Given the description of an element on the screen output the (x, y) to click on. 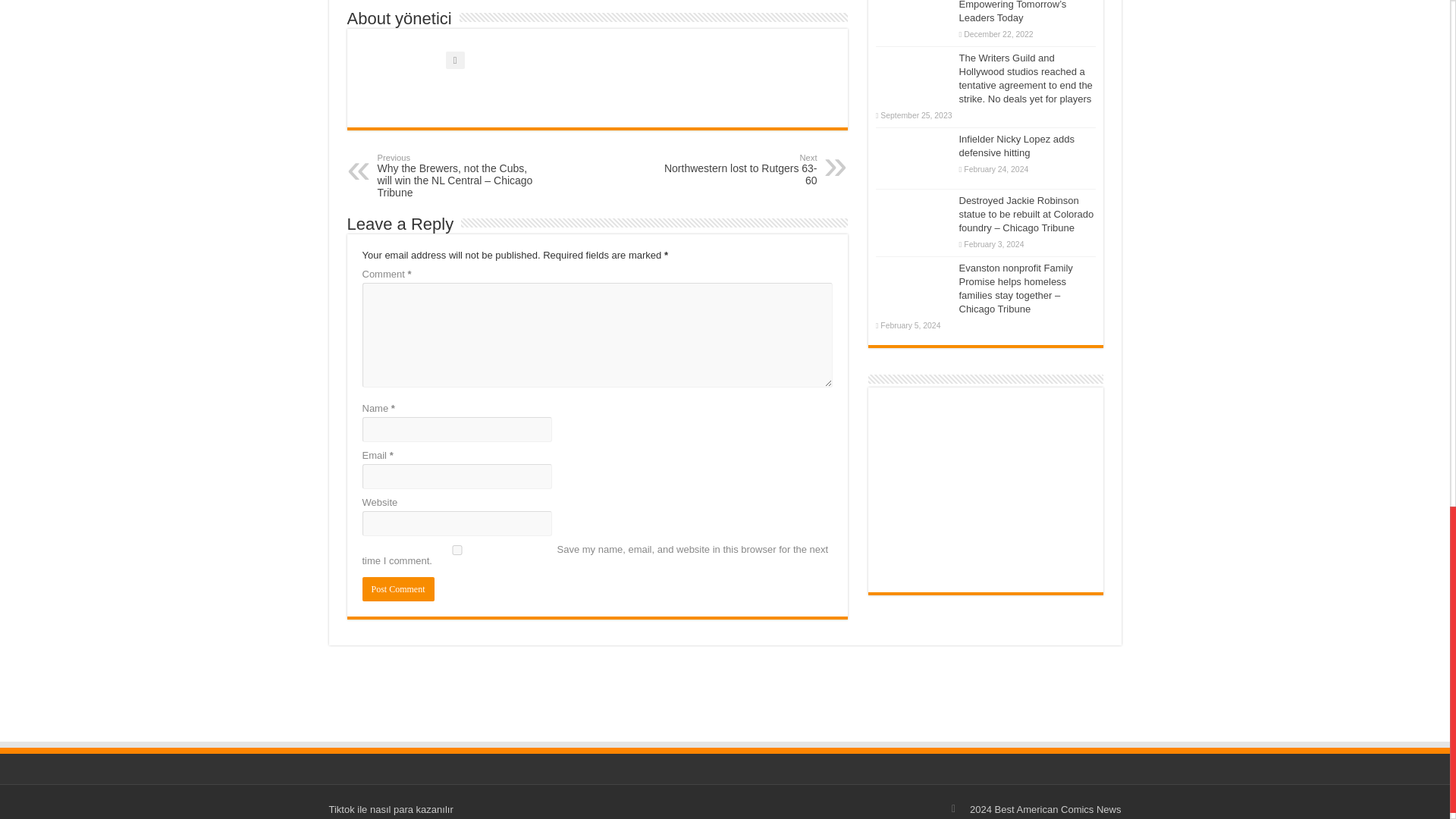
Post Comment (397, 589)
yes (738, 169)
